Given the description of an element on the screen output the (x, y) to click on. 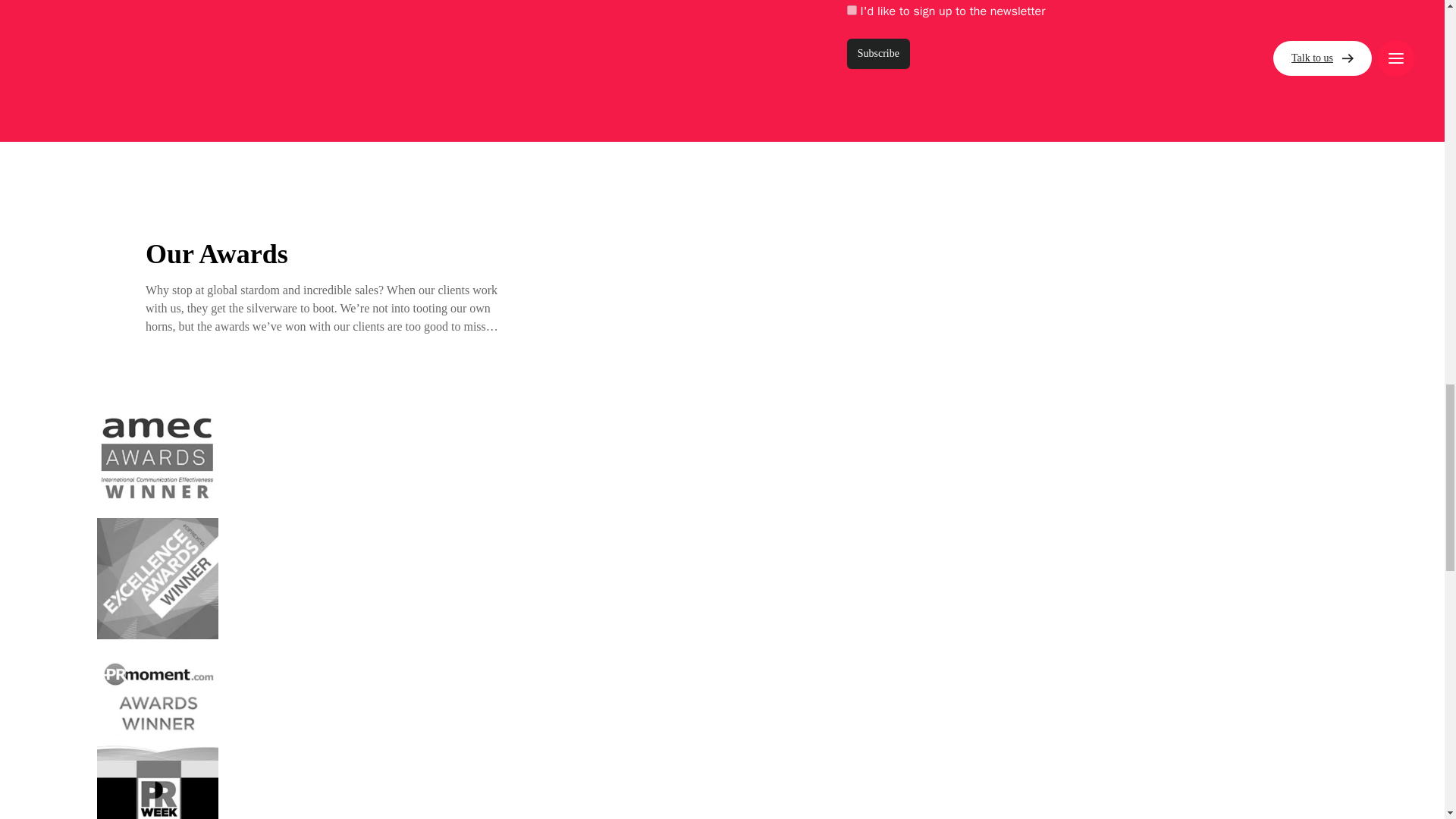
Subscribe (878, 52)
I'd like to sign up to the newsletter (852, 9)
